Given the description of an element on the screen output the (x, y) to click on. 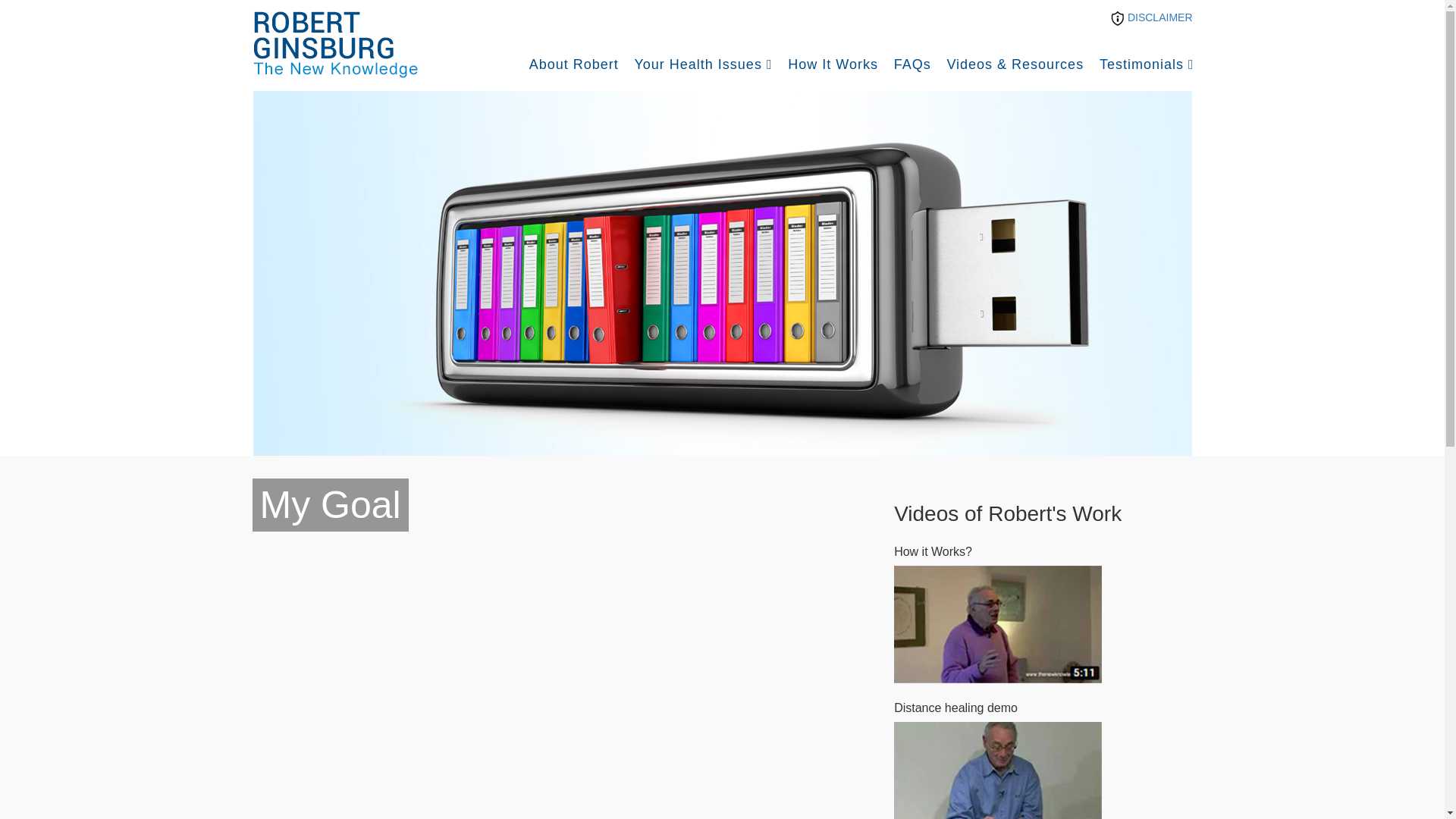
FAQs (912, 63)
How It Works (832, 63)
DISCLAIMER (1151, 17)
About Robert (573, 63)
Your Health Issues (702, 63)
Testimonials (1146, 63)
